Given the description of an element on the screen output the (x, y) to click on. 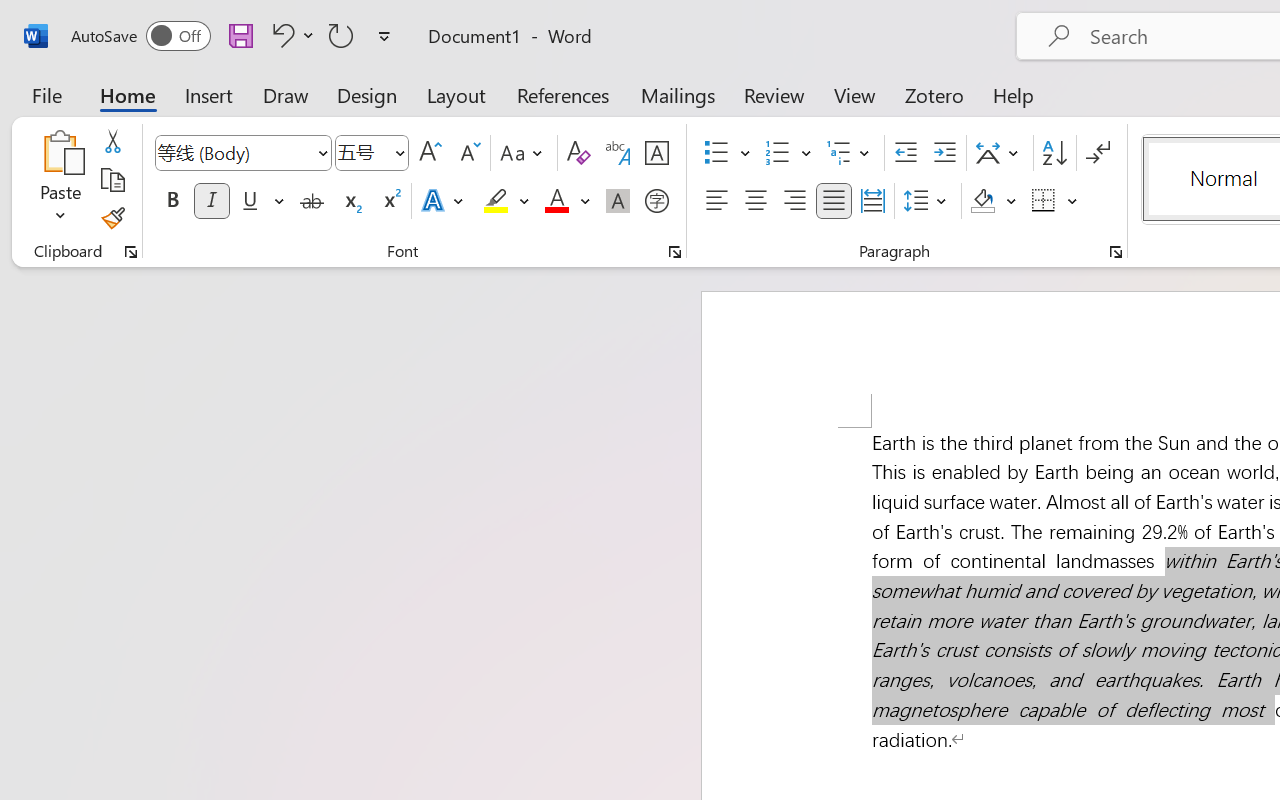
Font... (675, 252)
